Given the description of an element on the screen output the (x, y) to click on. 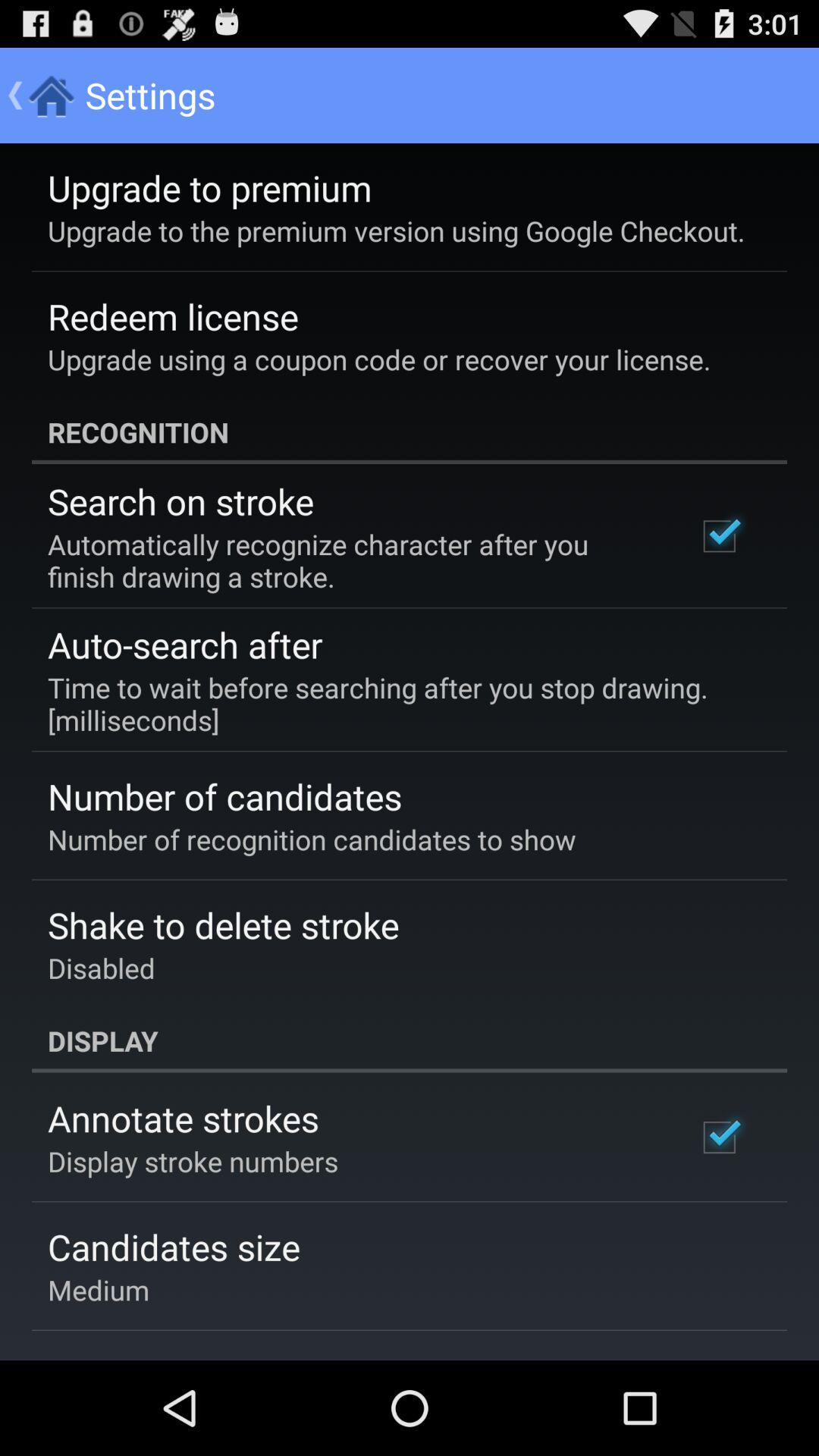
click app above the display stroke numbers (183, 1118)
